Given the description of an element on the screen output the (x, y) to click on. 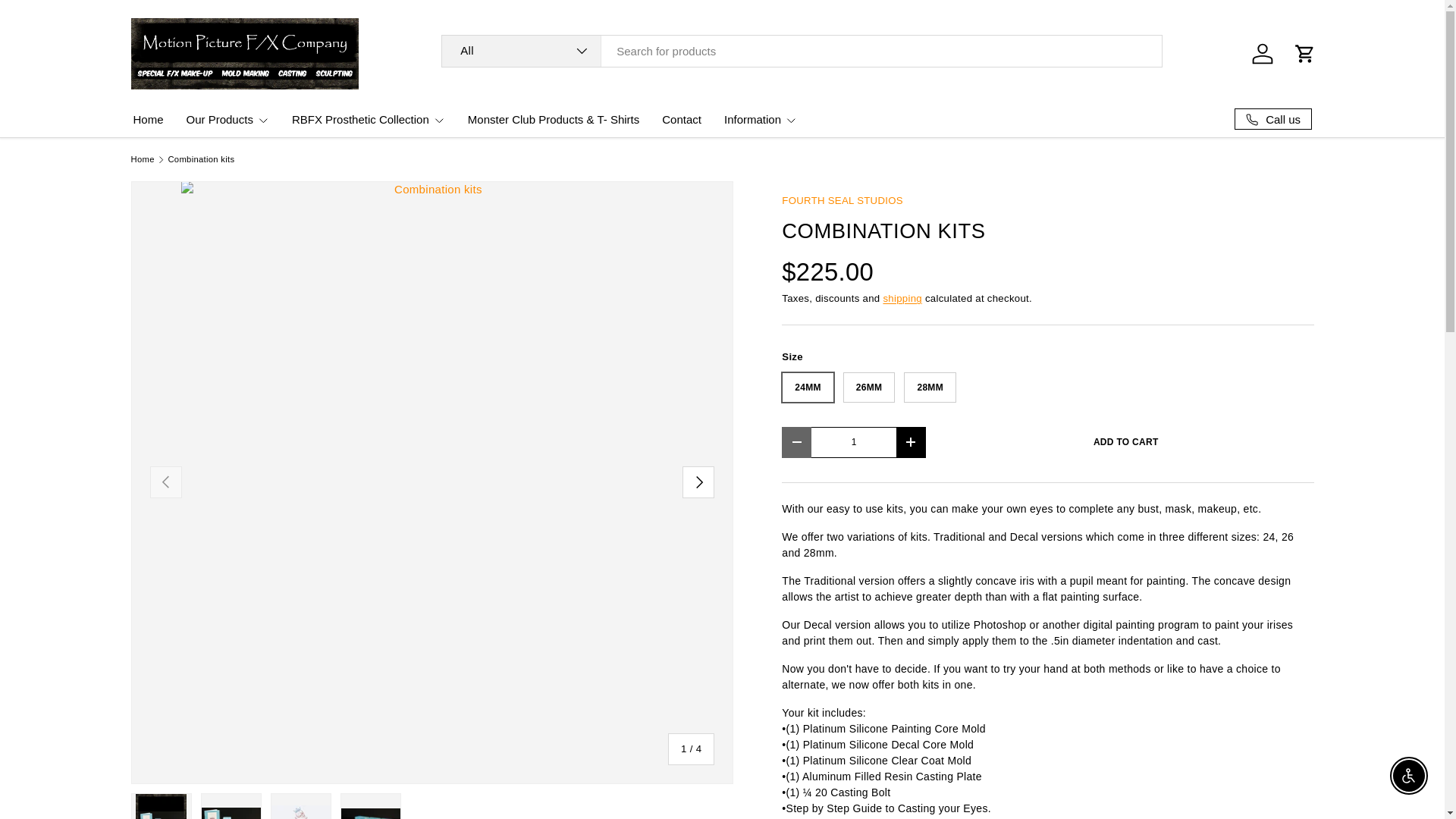
Our Products (227, 119)
Cart (1303, 53)
All (521, 51)
RBFX Prosthetic Collection (368, 119)
1 (853, 441)
SKIP TO CONTENT (64, 21)
Log in (1261, 53)
